Given the description of an element on the screen output the (x, y) to click on. 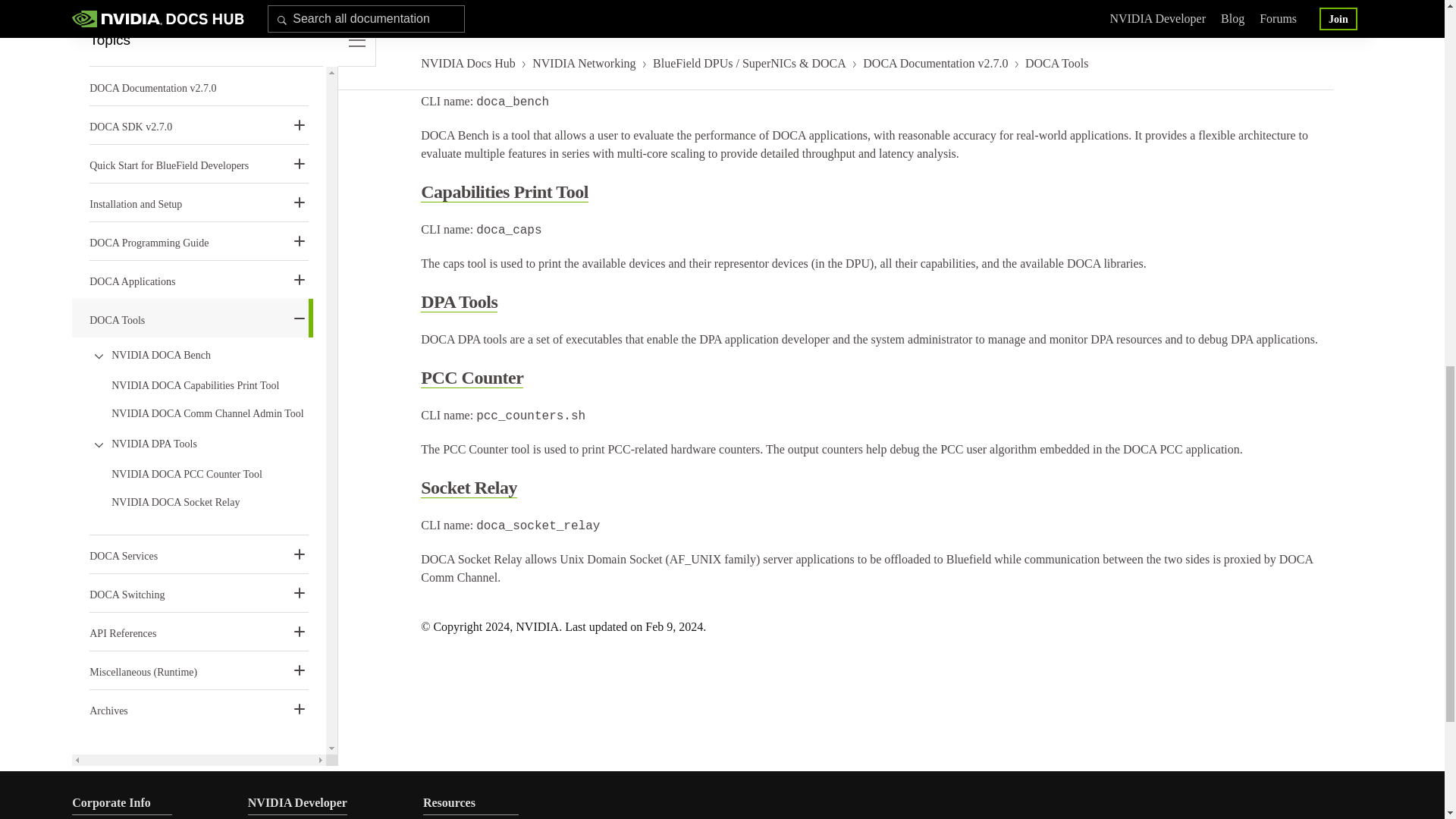
PCC Counter (471, 377)
Tools (440, 28)
Socket Relay (468, 487)
DPA Tools (458, 301)
DOCA Bench (471, 67)
Capabilities Print Tool (504, 191)
